Given the description of an element on the screen output the (x, y) to click on. 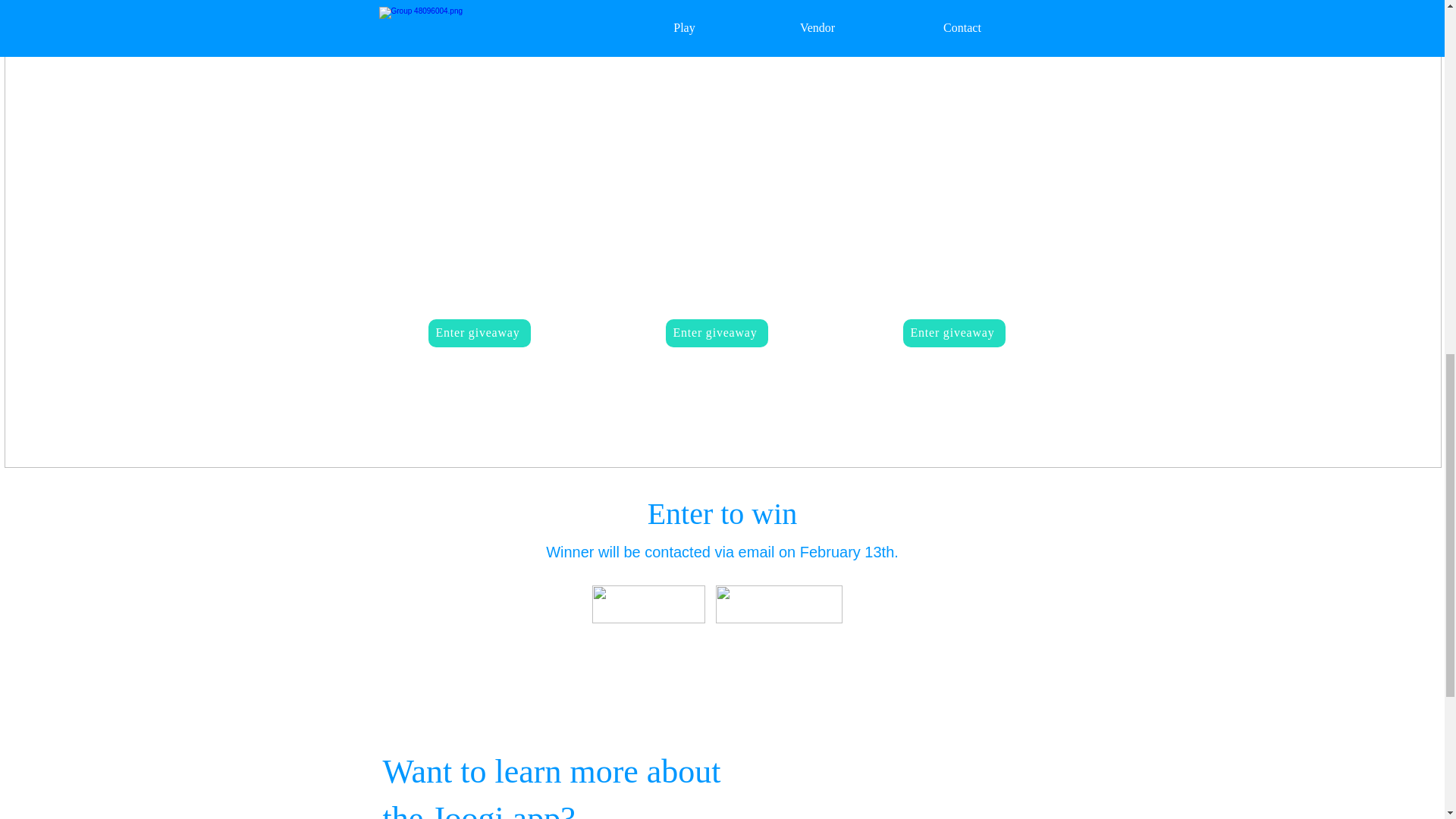
Enter giveaway (716, 333)
Enter giveaway (478, 333)
Enter giveaway (953, 333)
